Given the description of an element on the screen output the (x, y) to click on. 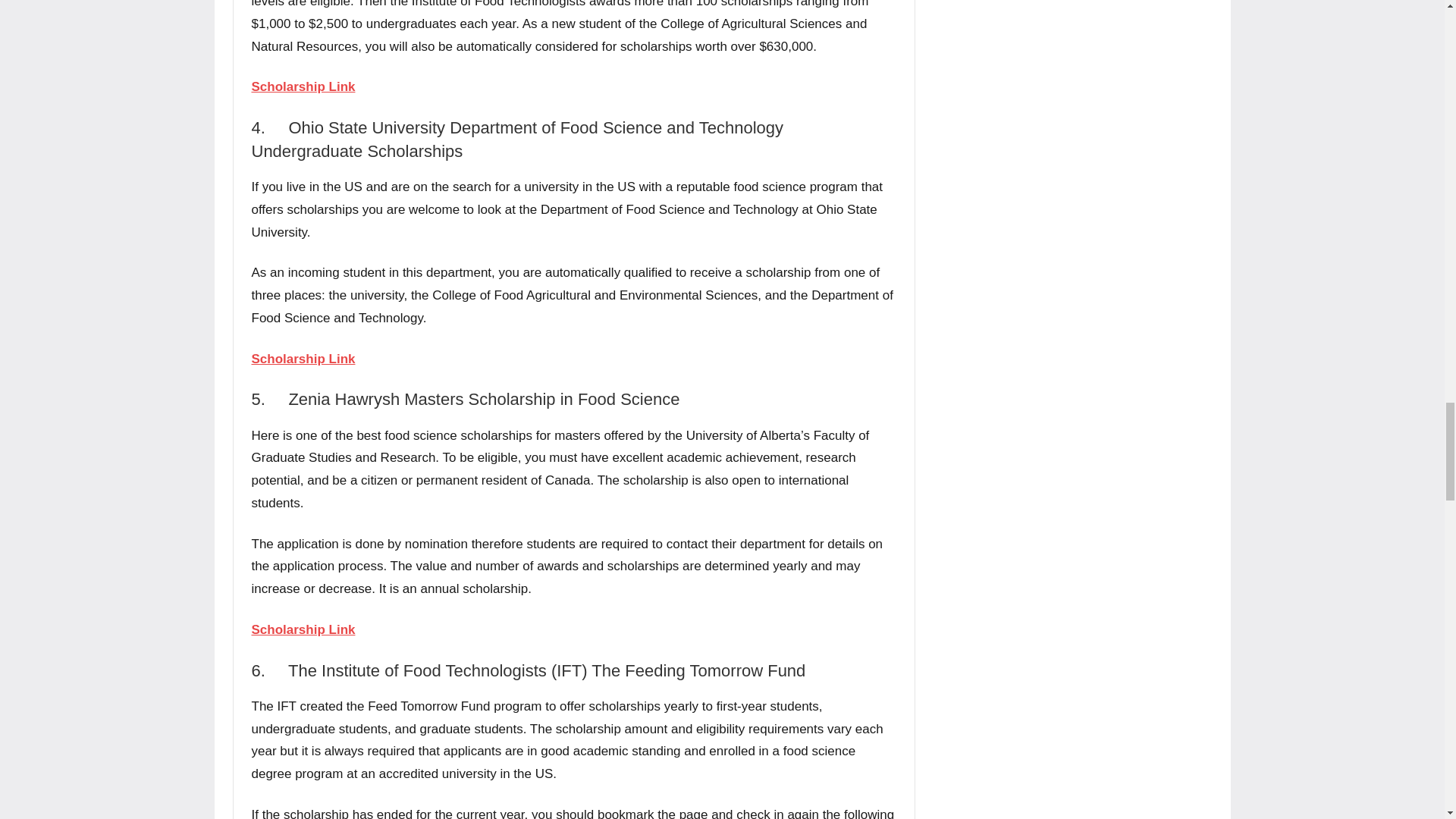
Scholarship Link (303, 359)
Scholarship Link (303, 86)
Scholarship Link (303, 629)
